Given the description of an element on the screen output the (x, y) to click on. 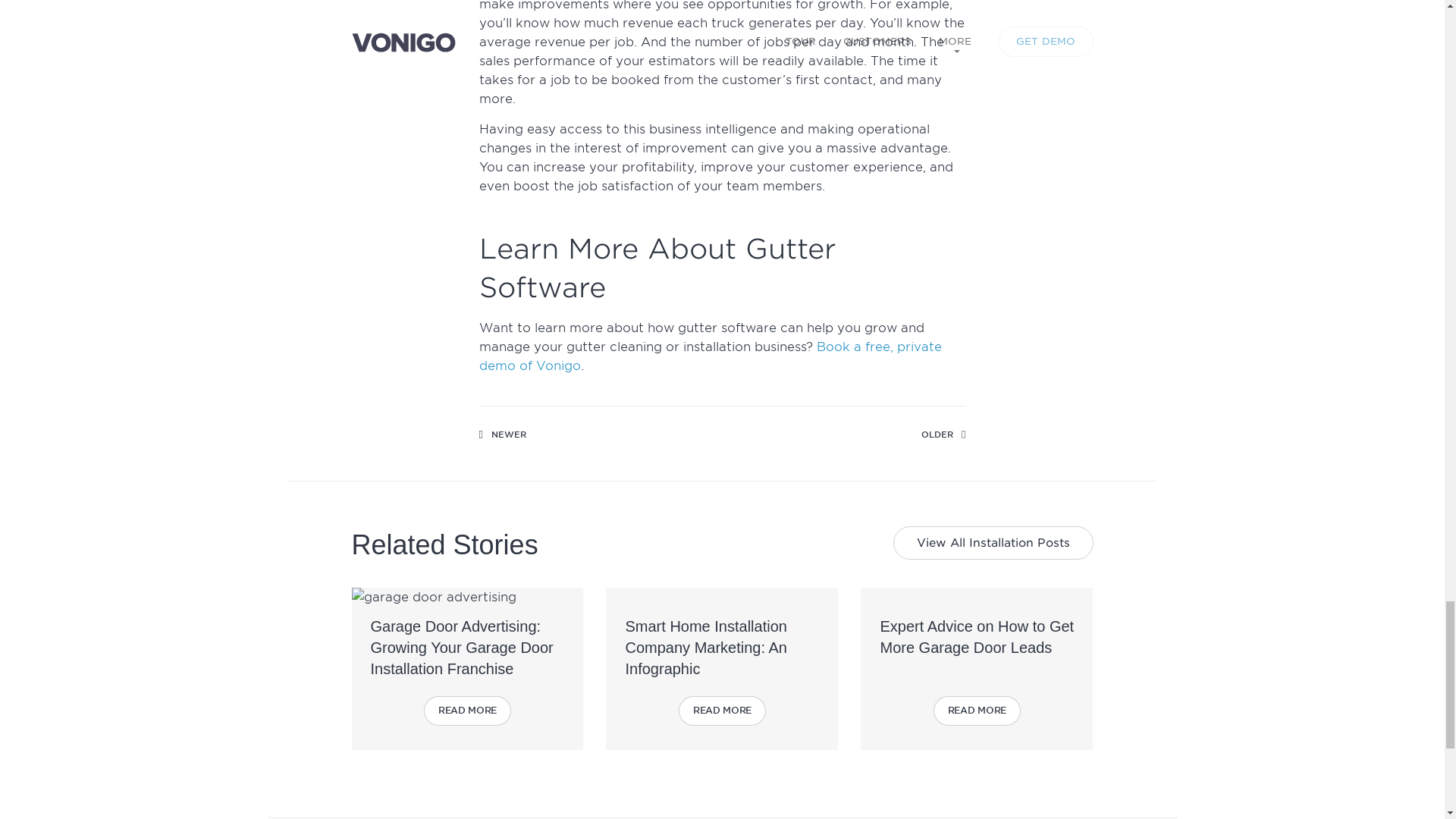
Expert Advice on How to Get More Garage Door Leads (976, 637)
READ MORE (721, 710)
Expert Advice on How to Get More Garage Door Leads (976, 637)
READ MORE (467, 710)
Book a free, private demo of Vonigo (710, 356)
Smart Home Installation Company Marketing: An Infographic (705, 647)
OLDER (943, 434)
NEWER (502, 434)
READ MORE (976, 710)
Smart Home Installation Company Marketing: An Infographic (705, 647)
View All Installation Posts (993, 542)
